Given the description of an element on the screen output the (x, y) to click on. 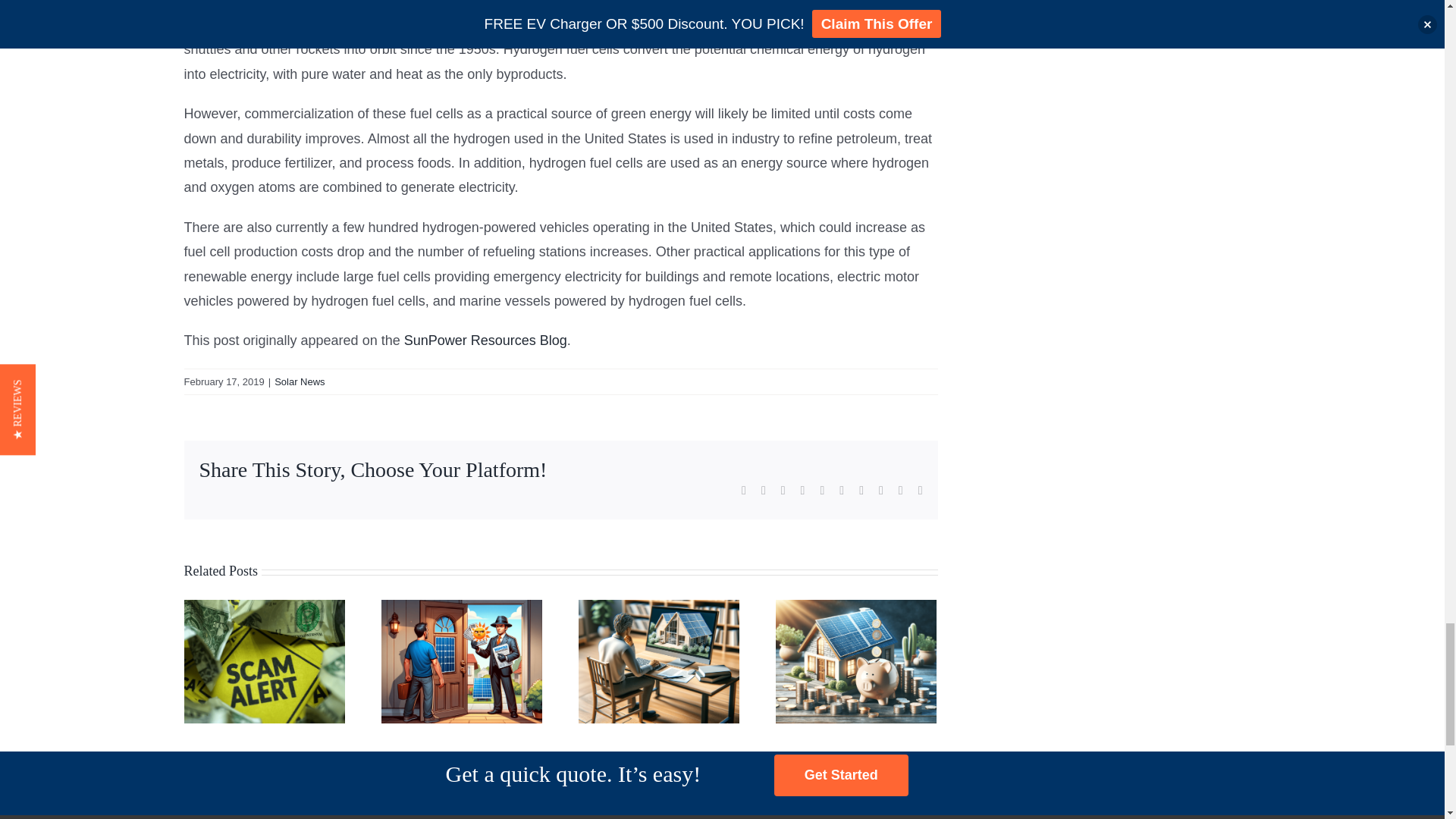
Solar News (299, 381)
SunPower Resources Blog (485, 340)
